Given the description of an element on the screen output the (x, y) to click on. 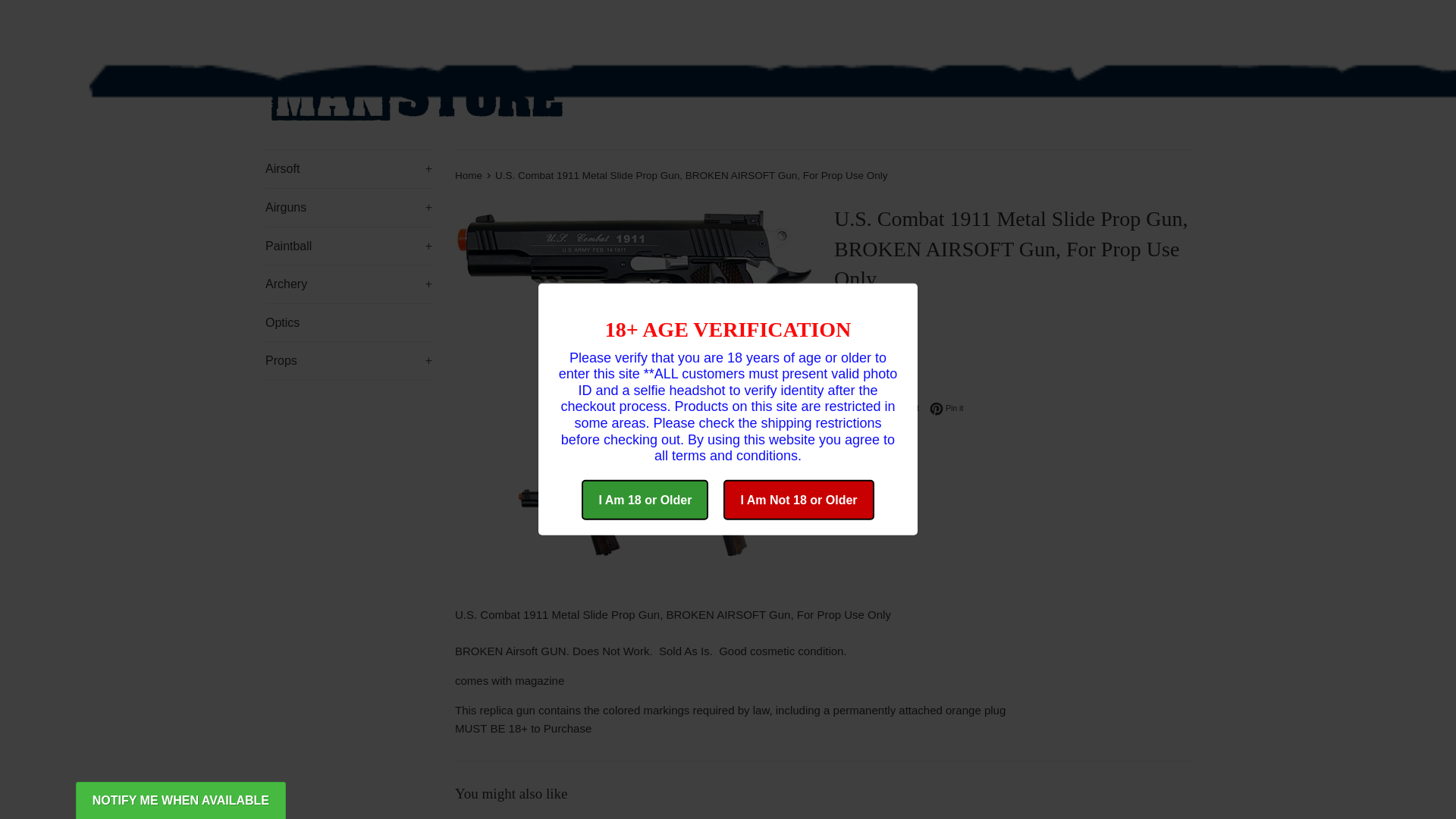
Back to the frontpage (469, 174)
Log in (468, 21)
Tweet on Twitter (904, 408)
Share on Facebook (856, 408)
Search (276, 21)
Pin on Pinterest (946, 408)
Check Out (1166, 21)
Sign up (516, 21)
Optics (348, 322)
Home (469, 174)
